Given the description of an element on the screen output the (x, y) to click on. 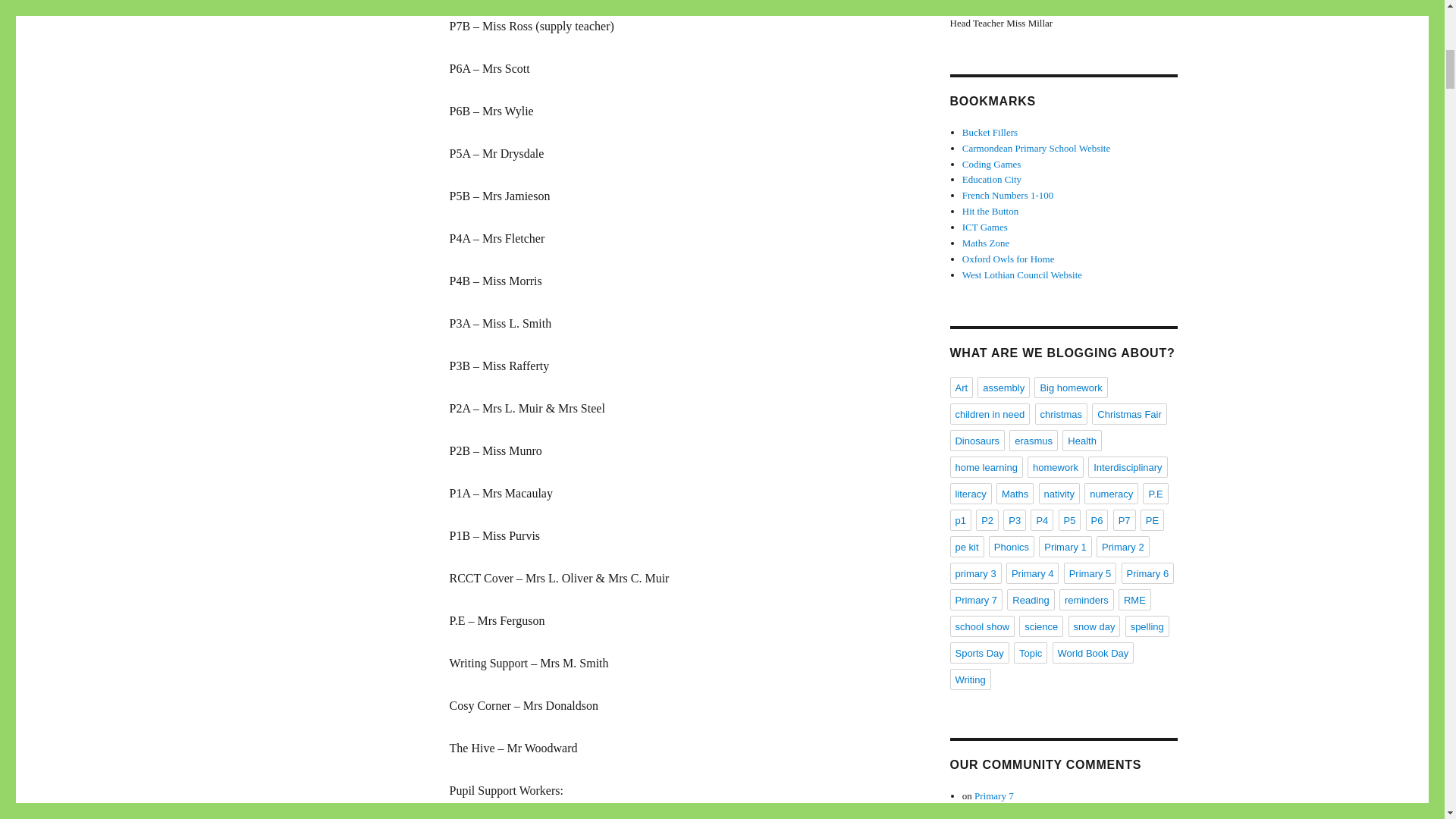
Home learning resources for Literacy and Numeracy (1008, 258)
Literacy and Numeracy games for practising key skills (984, 226)
School Website (1035, 147)
Numeracy and Mathematics Learning Games (985, 242)
